Given the description of an element on the screen output the (x, y) to click on. 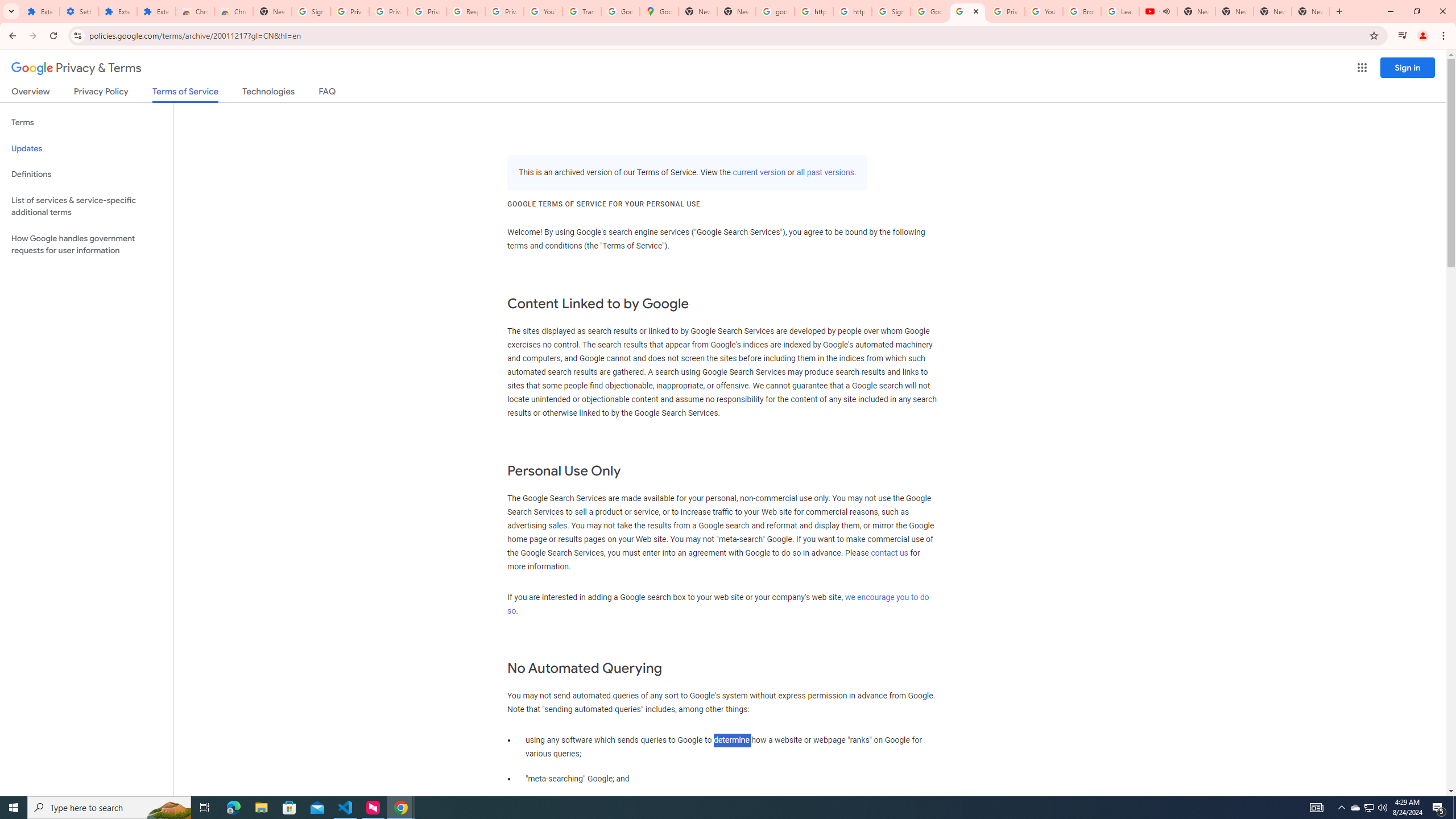
New Tab (1311, 11)
YouTube (1043, 11)
Settings (79, 11)
Sign in - Google Accounts (310, 11)
Extensions (117, 11)
https://scholar.google.com/ (813, 11)
Google Maps (659, 11)
